Given the description of an element on the screen output the (x, y) to click on. 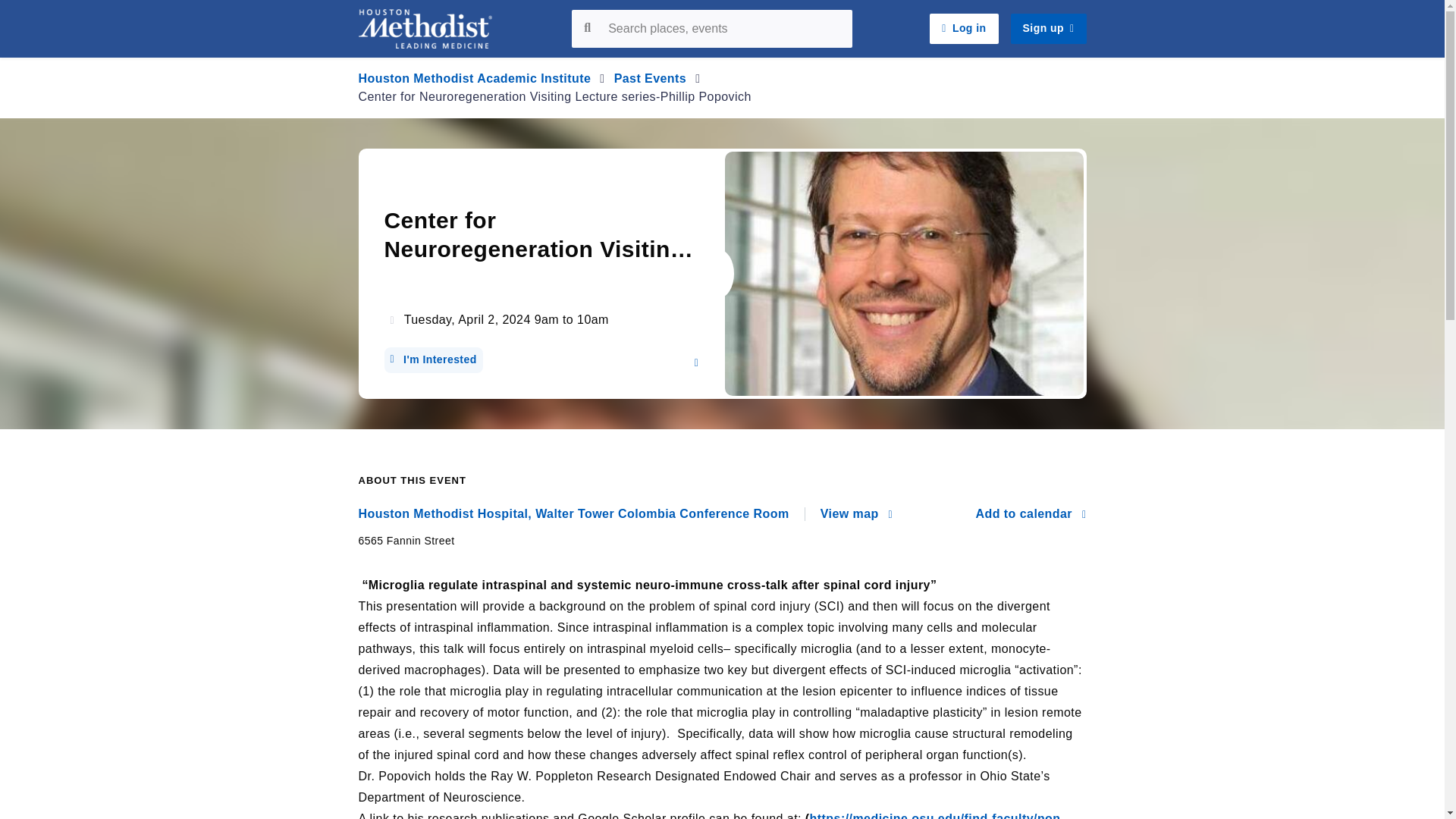
Add to calendar (1030, 514)
View map (856, 514)
I'm Interested (432, 360)
Houston Methodist Academic Institute (474, 78)
Past Events (650, 78)
Sign up (1048, 28)
Log in (963, 28)
